Given the description of an element on the screen output the (x, y) to click on. 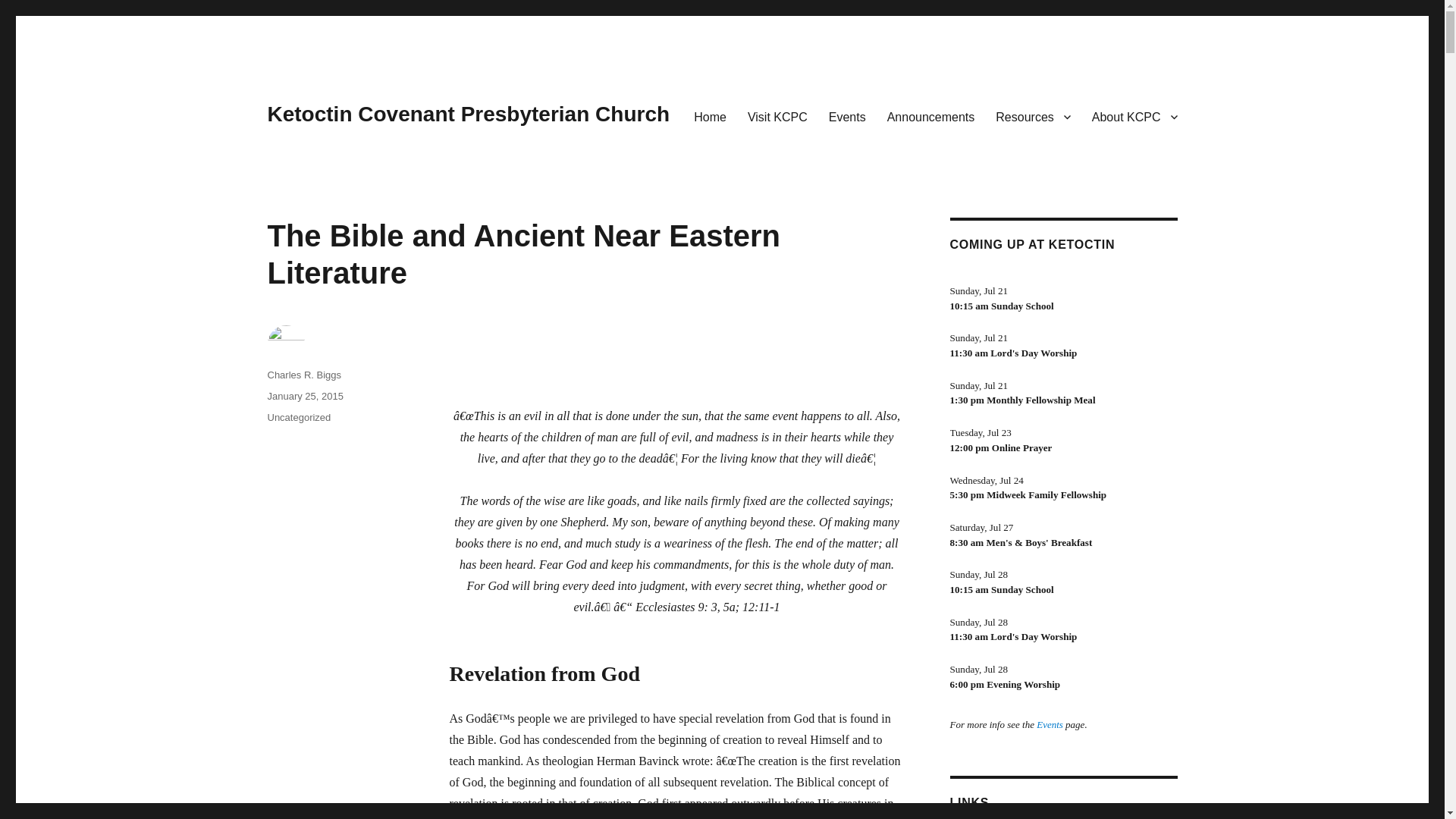
Home (709, 116)
Announcements (930, 116)
Ketoctin Covenant Presbyterian Church (467, 114)
About KCPC (1134, 116)
Resources (1032, 116)
Visit KCPC (777, 116)
Events (847, 116)
